Given the description of an element on the screen output the (x, y) to click on. 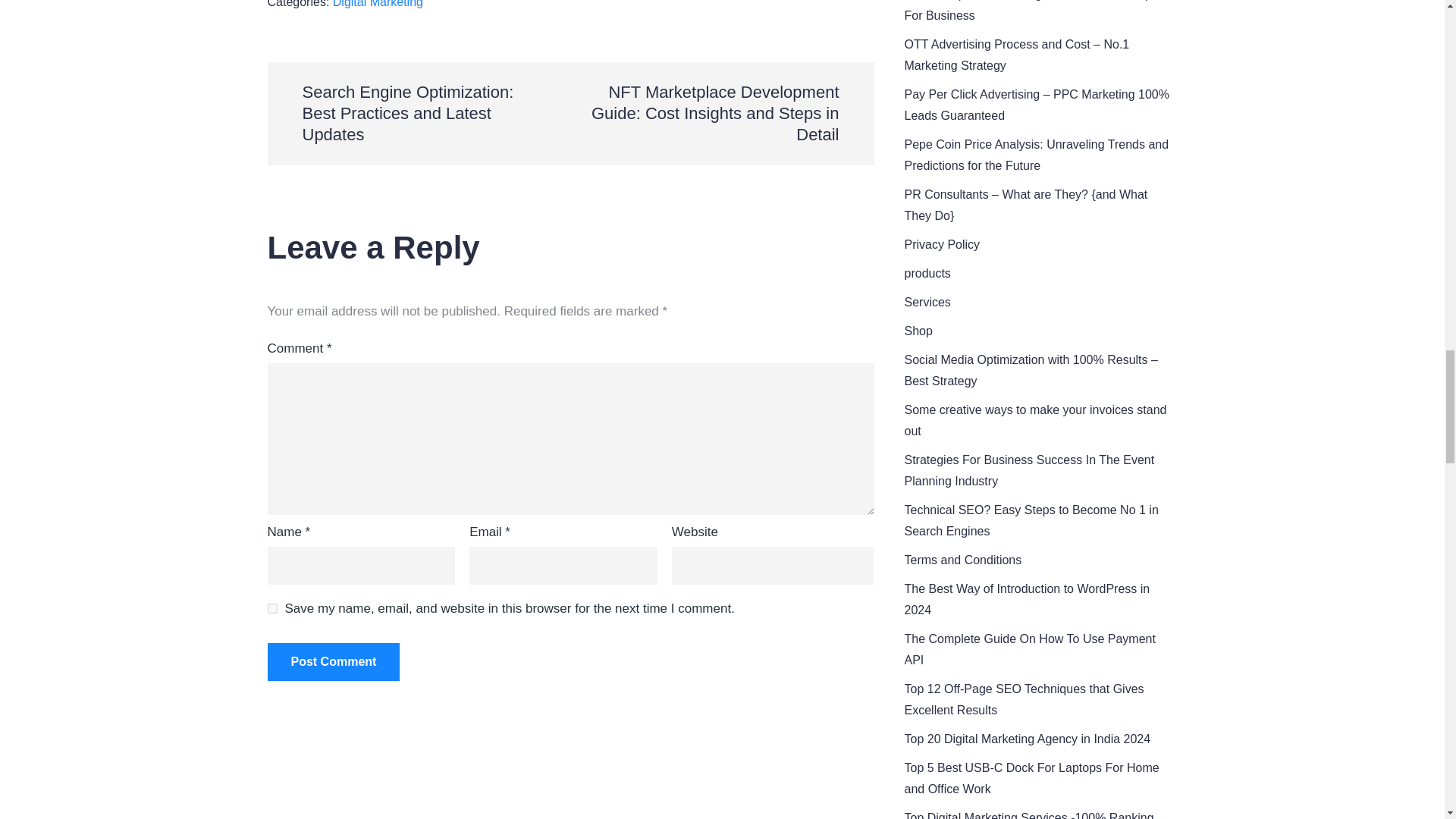
Post Comment (332, 661)
yes (271, 608)
Digital Marketing (378, 4)
Post Comment (332, 661)
